Given the description of an element on the screen output the (x, y) to click on. 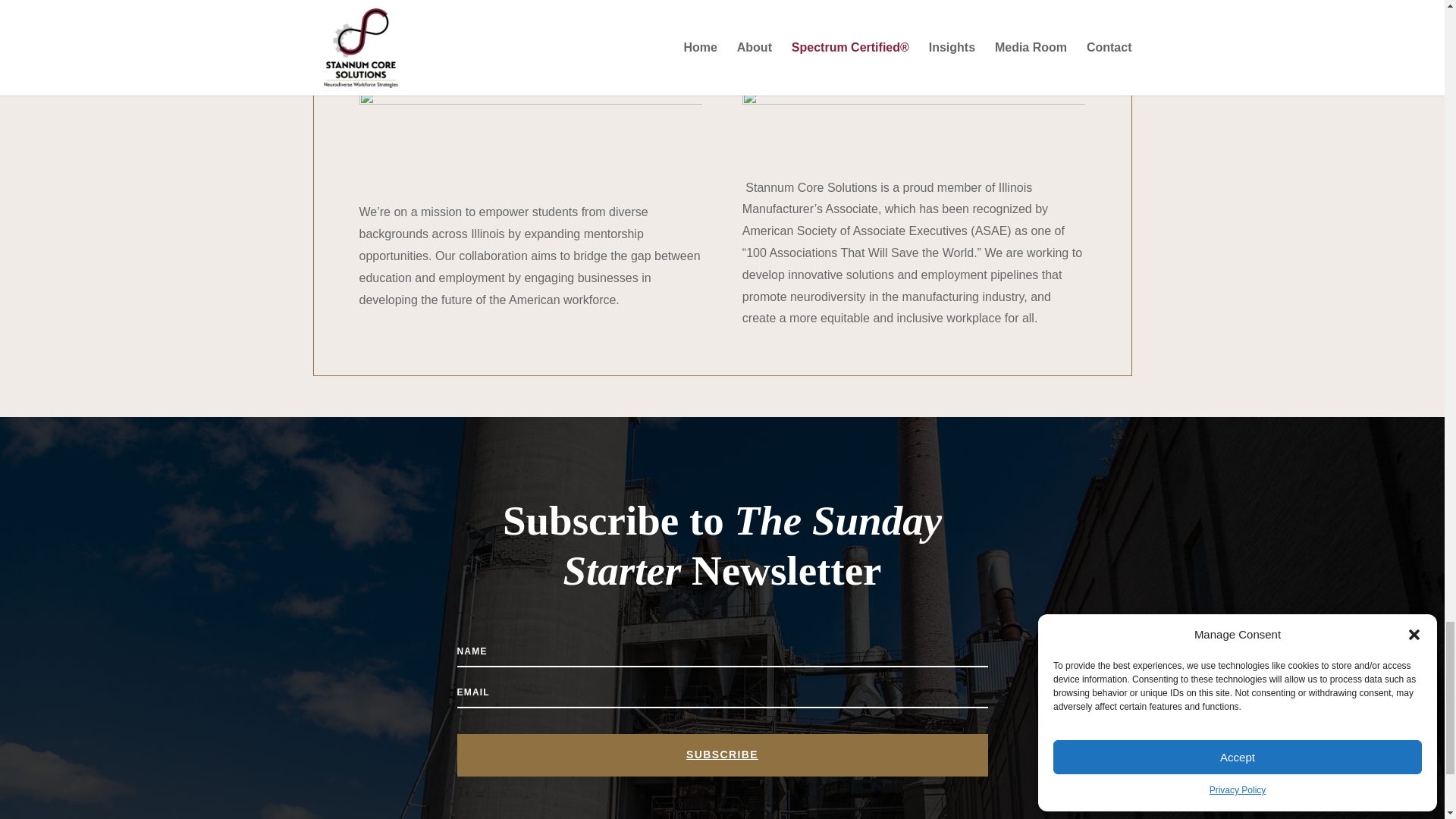
IMA-Logo-RGB (914, 123)
SUBSCRIBE (722, 754)
ISTC-Education-Full-H-5 (531, 135)
